Given the description of an element on the screen output the (x, y) to click on. 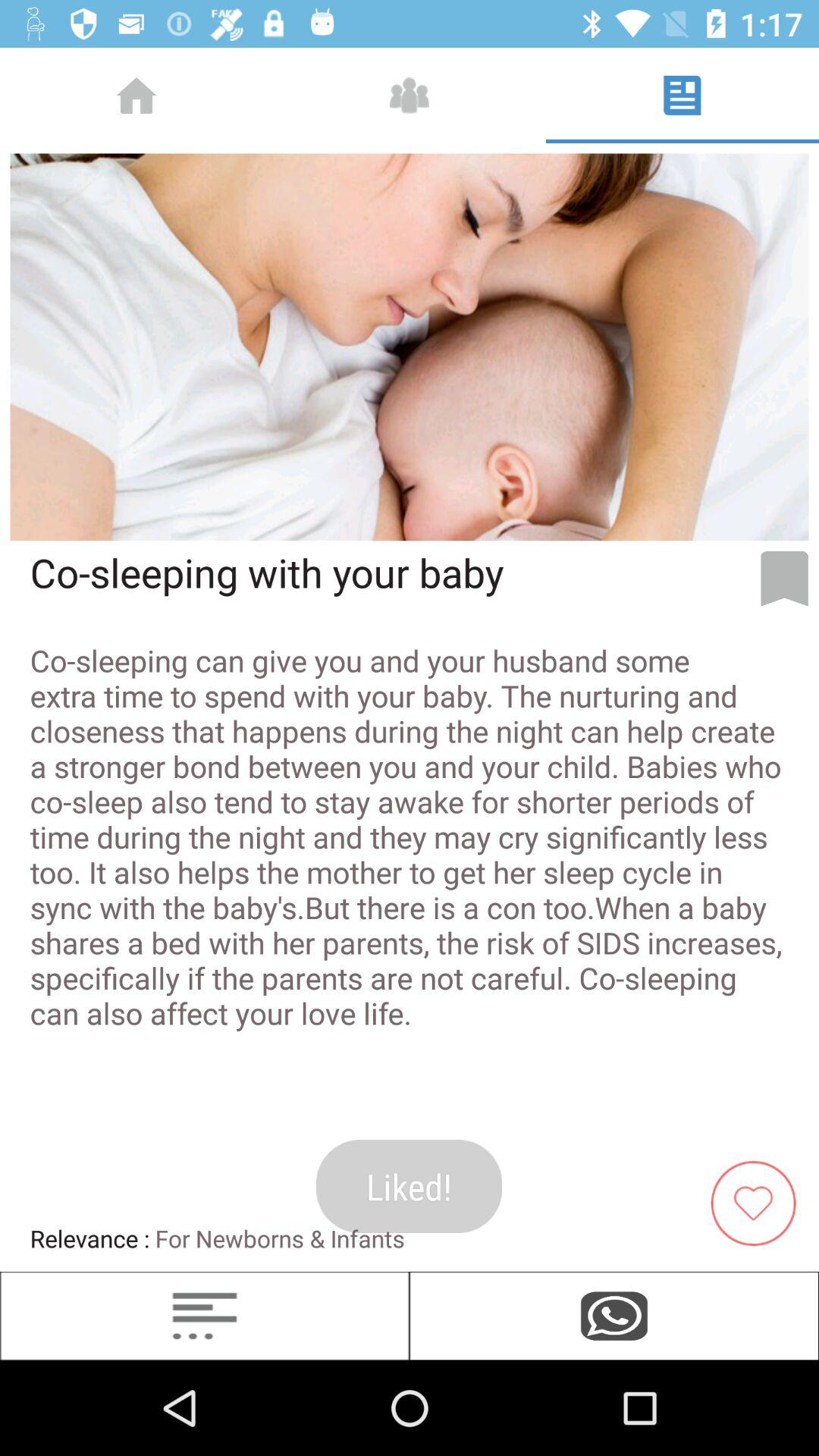
tap the item on the right (784, 578)
